Given the description of an element on the screen output the (x, y) to click on. 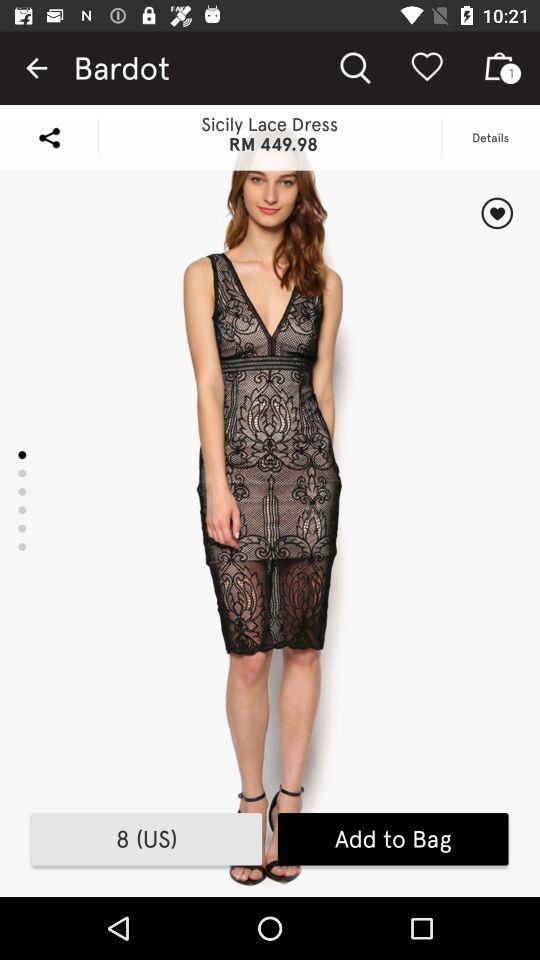
select the item next to add to bag icon (146, 839)
